Given the description of an element on the screen output the (x, y) to click on. 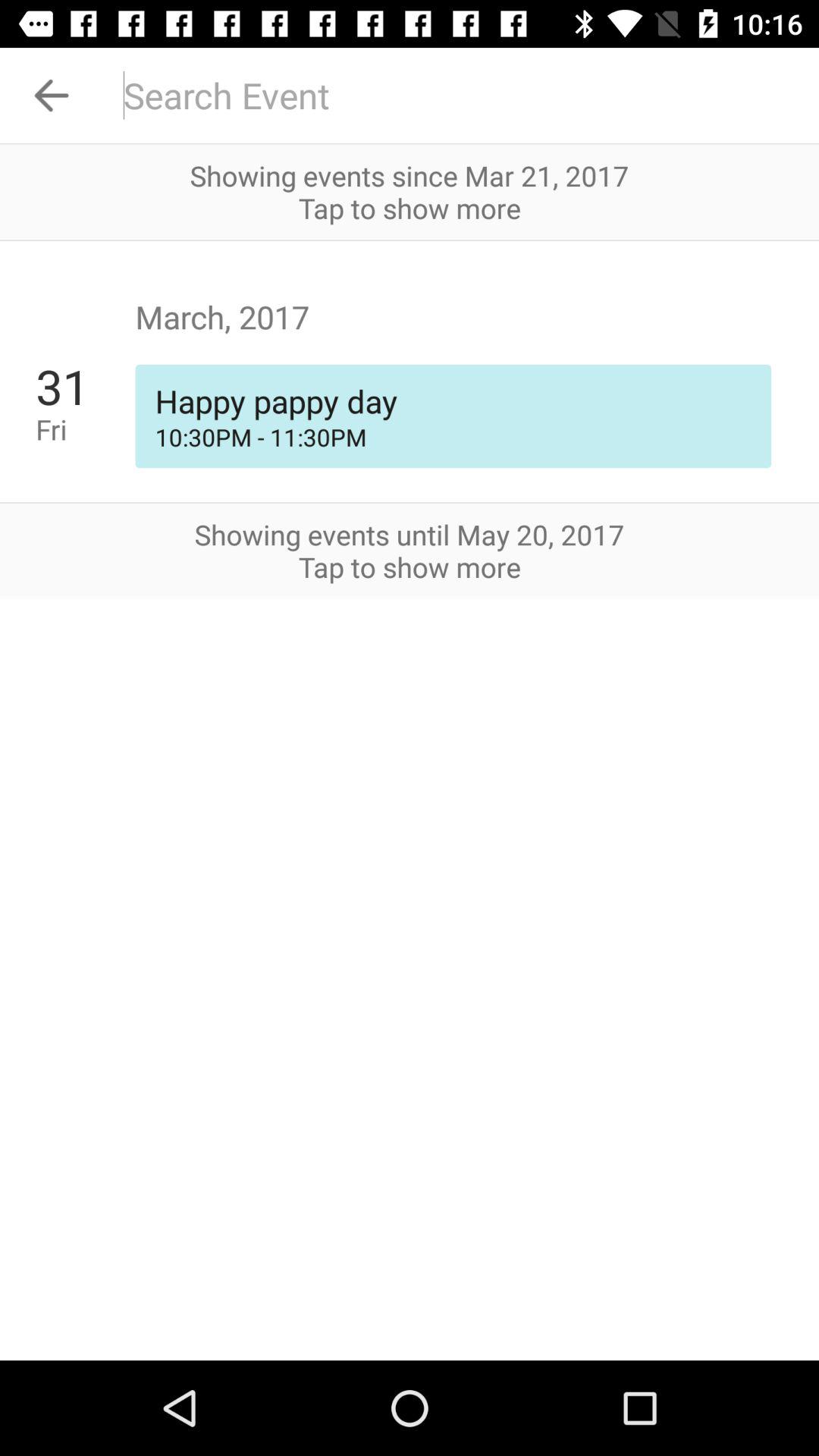
search for events in the calendar (461, 95)
